Given the description of an element on the screen output the (x, y) to click on. 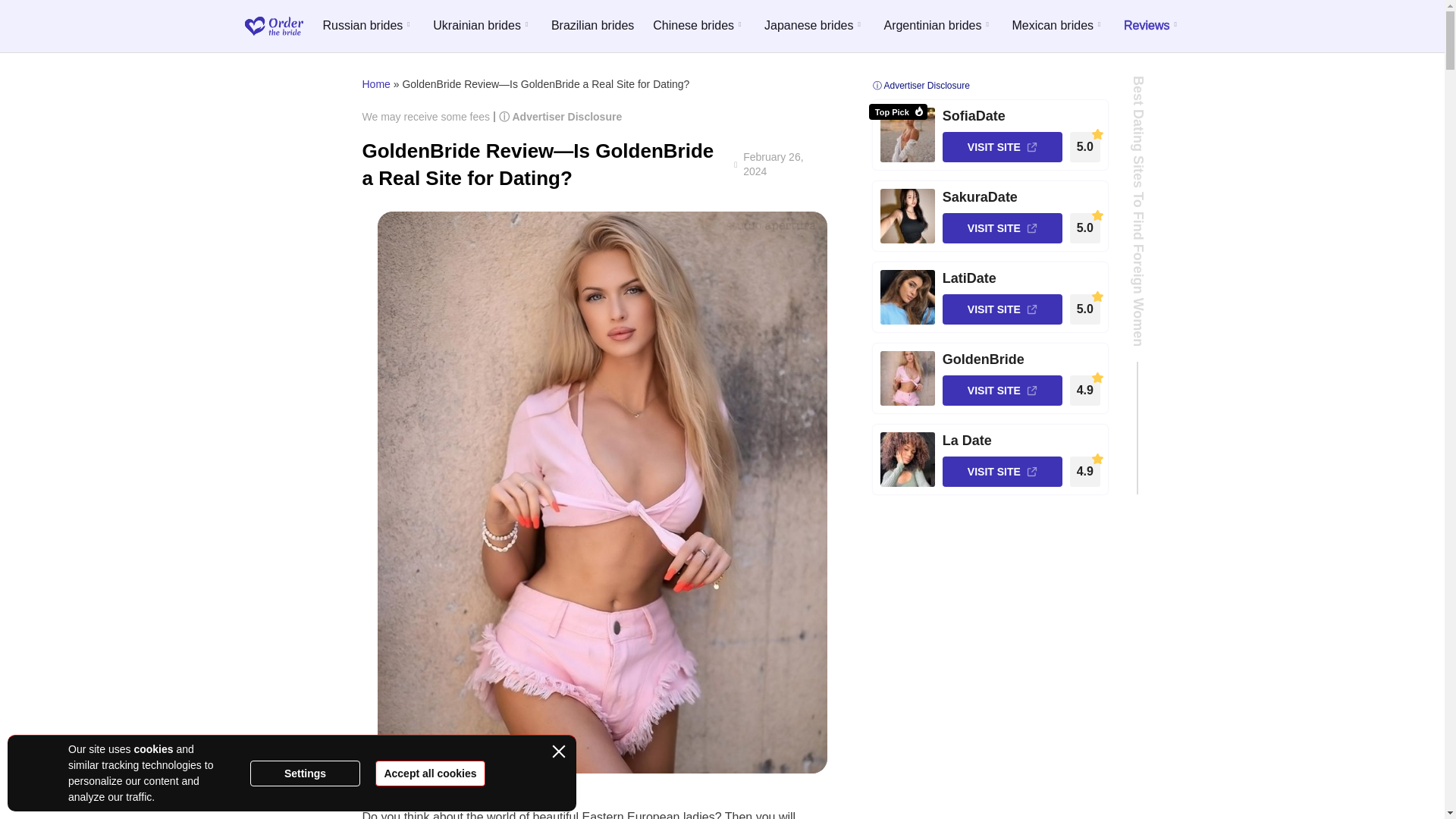
Visit SofiaDate (907, 134)
Visit GoldenBride  (907, 378)
Japanese brides (814, 26)
Brazilian brides (592, 26)
Visit LatiDate (907, 297)
Orderthebride (273, 26)
Argentinian brides (937, 26)
Ukrainian brides (482, 26)
Visit La Date (907, 459)
Mexican brides (1058, 26)
Visit SakuraDate (907, 216)
Russian brides (367, 26)
Home (376, 83)
Reviews (1152, 26)
Chinese brides (698, 26)
